Given the description of an element on the screen output the (x, y) to click on. 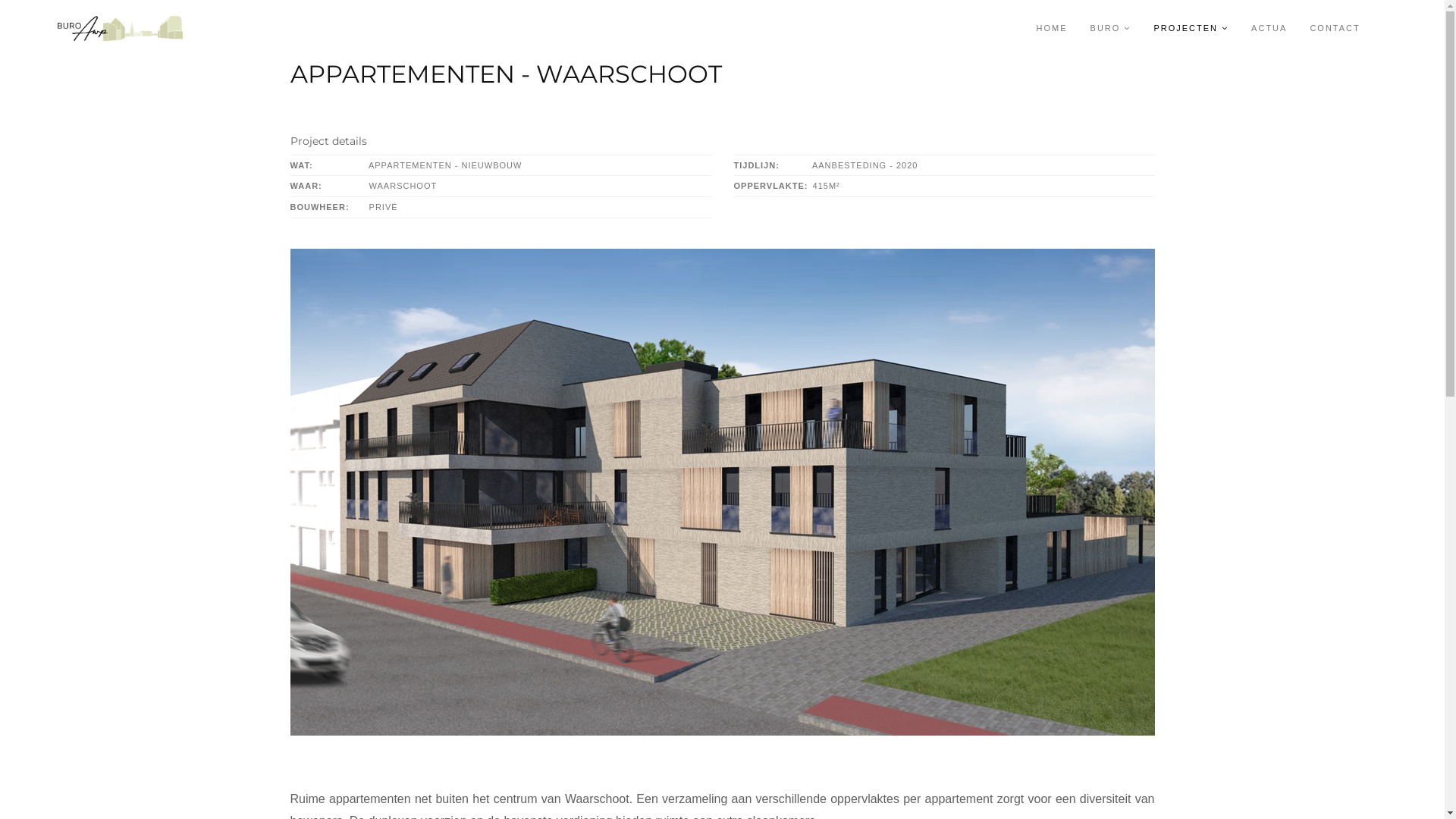
ACTUA Element type: text (1268, 28)
  Element type: text (1384, 28)
CONTACT Element type: text (1334, 28)
HOME Element type: text (1051, 28)
PROJECTEN Element type: text (1190, 28)
BURO Element type: text (1110, 28)
